Given the description of an element on the screen output the (x, y) to click on. 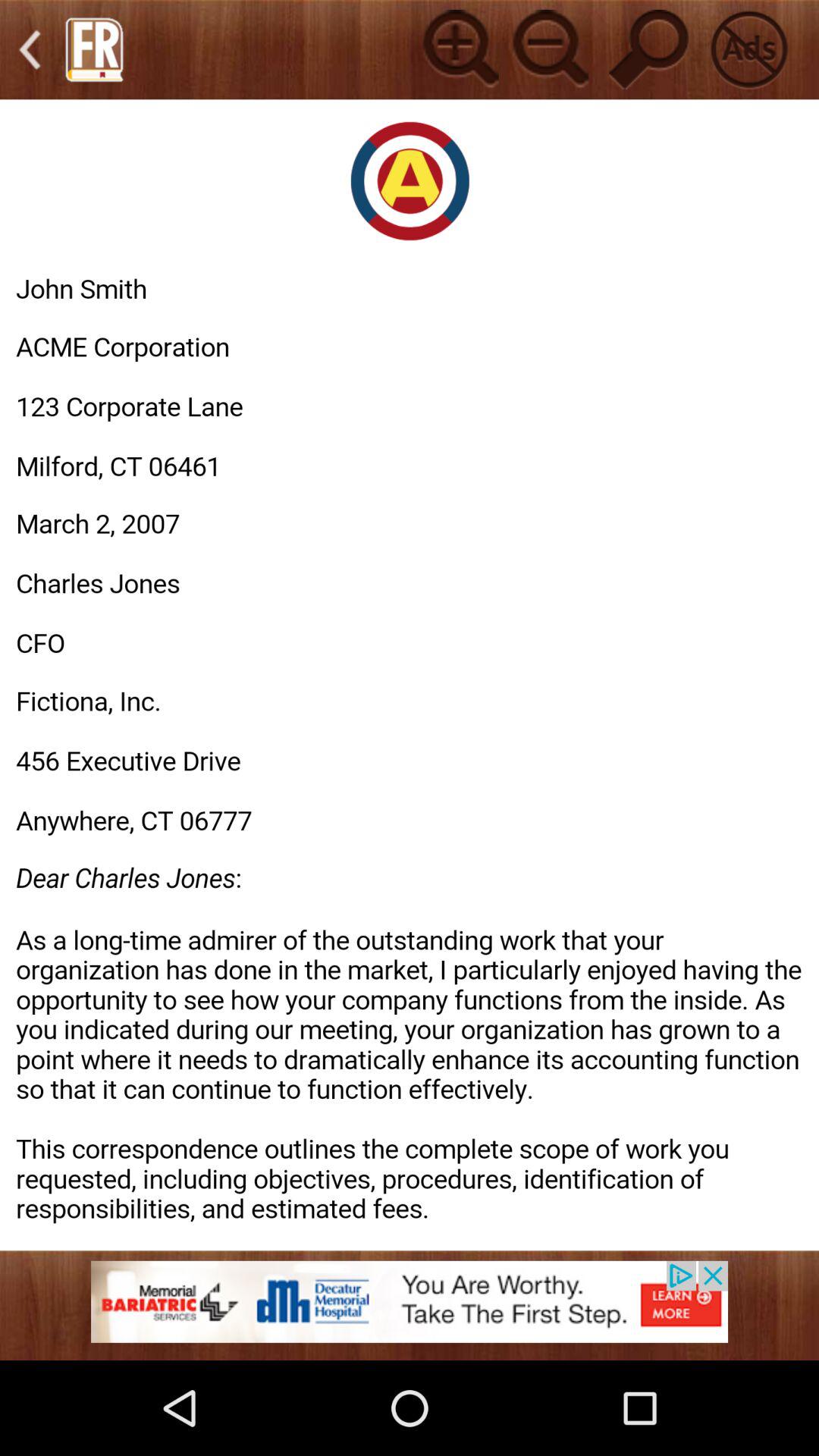
go back (29, 49)
